Given the description of an element on the screen output the (x, y) to click on. 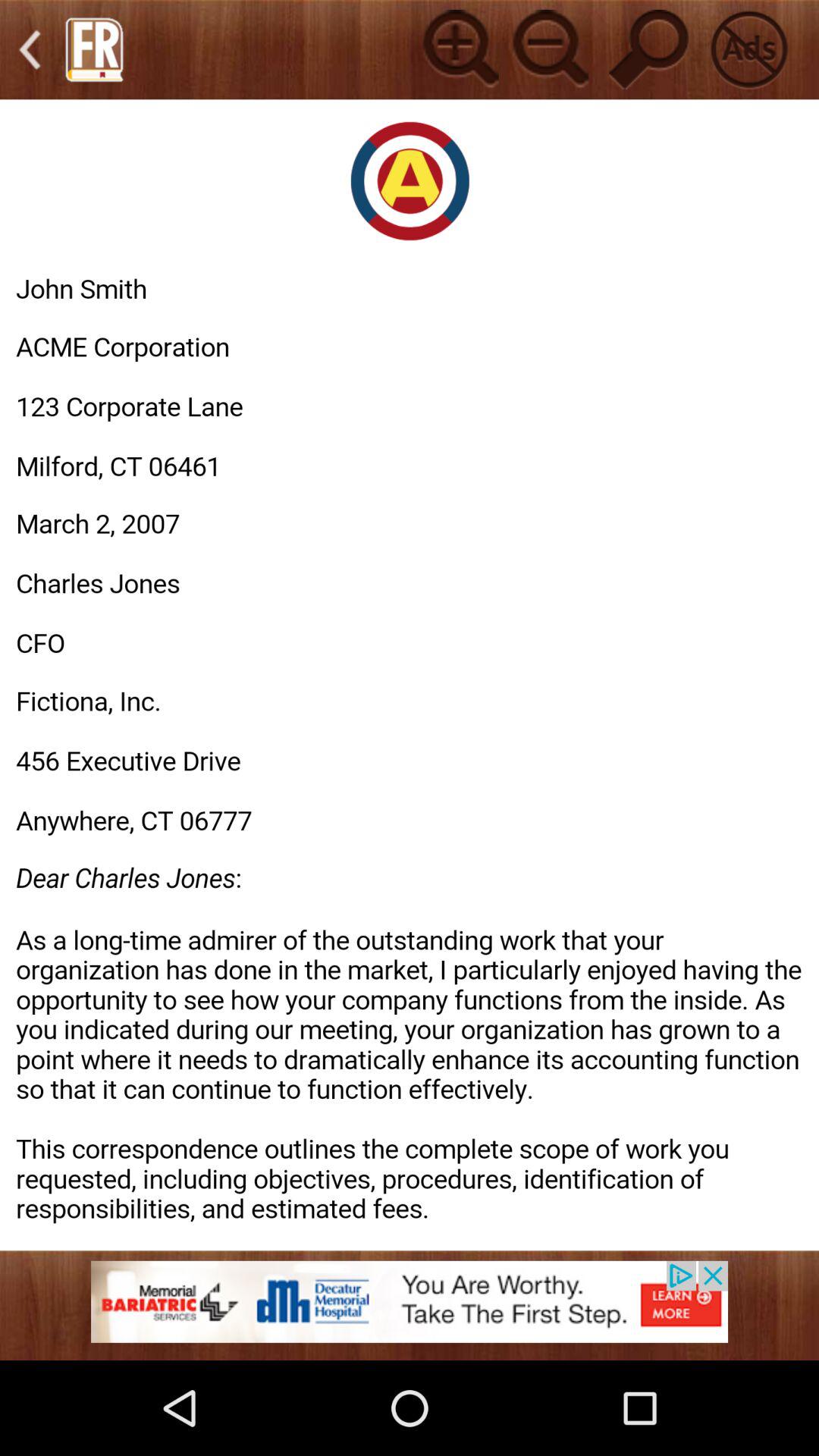
go back (29, 49)
